Given the description of an element on the screen output the (x, y) to click on. 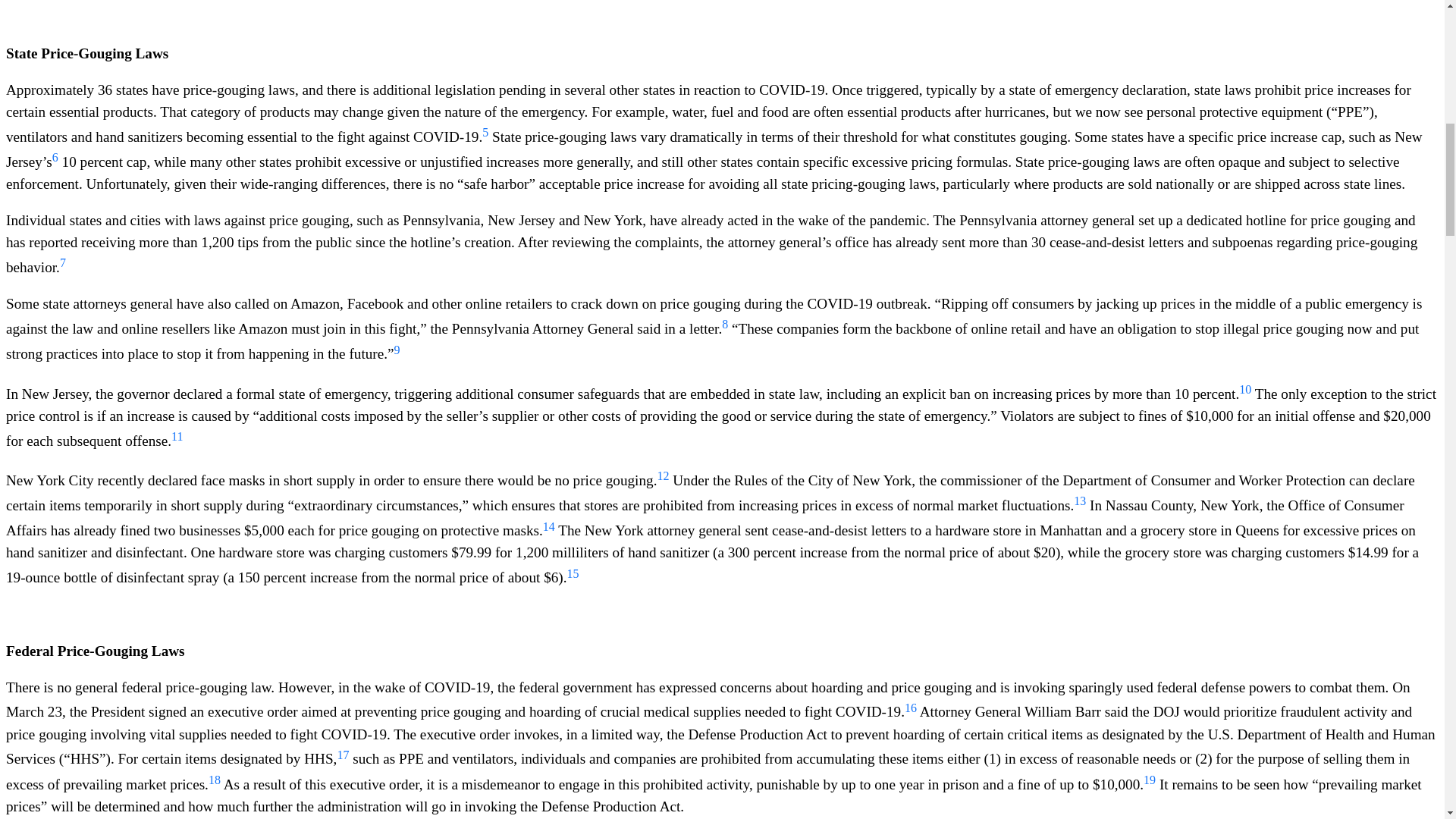
7 (62, 267)
6 (55, 161)
10 (1244, 393)
5 (484, 136)
8 (725, 328)
12 (662, 480)
14 (548, 530)
9 (397, 354)
16 (910, 712)
11 (177, 440)
15 (573, 578)
17 (342, 759)
13 (1080, 505)
18 (214, 784)
19 (1149, 784)
